Given the description of an element on the screen output the (x, y) to click on. 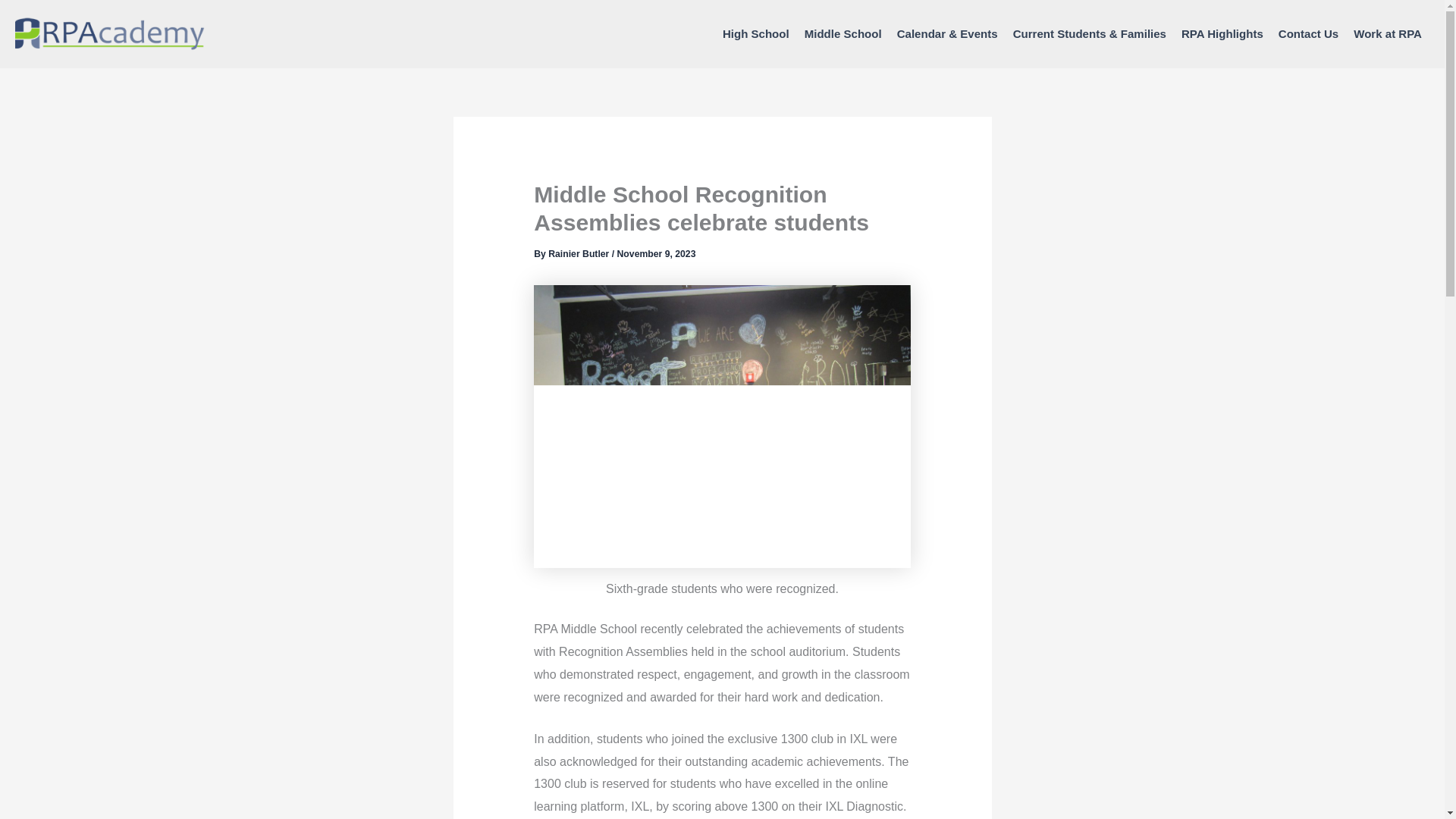
RPA Highlights (1222, 34)
Contact Us (1308, 34)
View all posts by Rainier Butler (579, 253)
High School (755, 34)
Middle School (842, 34)
Rainier Butler (579, 253)
Work at RPA (1387, 34)
